Given the description of an element on the screen output the (x, y) to click on. 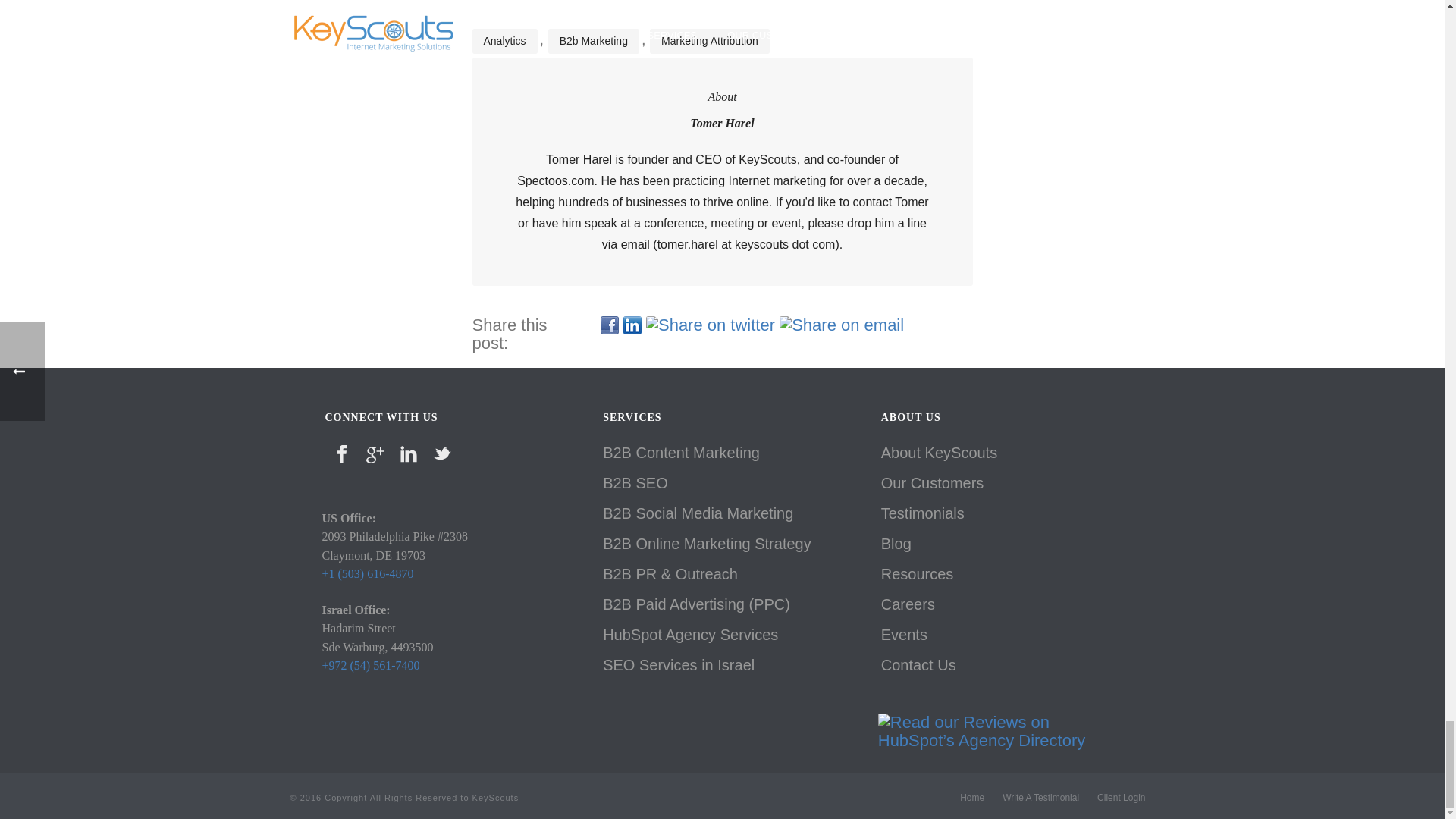
Connect With Us twitter (441, 456)
Connect With Us linkedin (408, 456)
Connect With Us facebook (341, 456)
Connect With Us googleplus (374, 456)
